Given the description of an element on the screen output the (x, y) to click on. 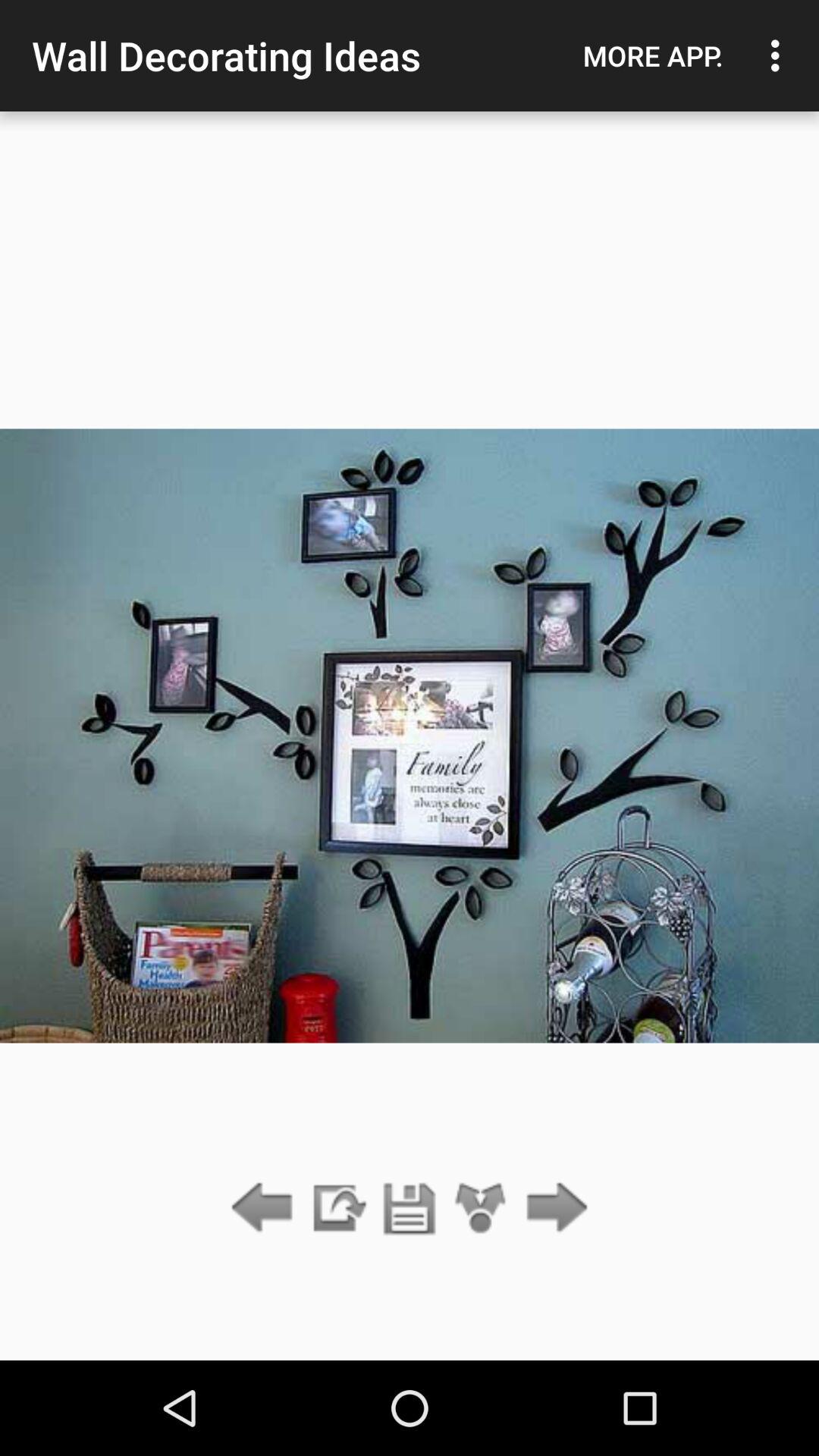
press the icon below the wall decorating ideas app (337, 1208)
